Given the description of an element on the screen output the (x, y) to click on. 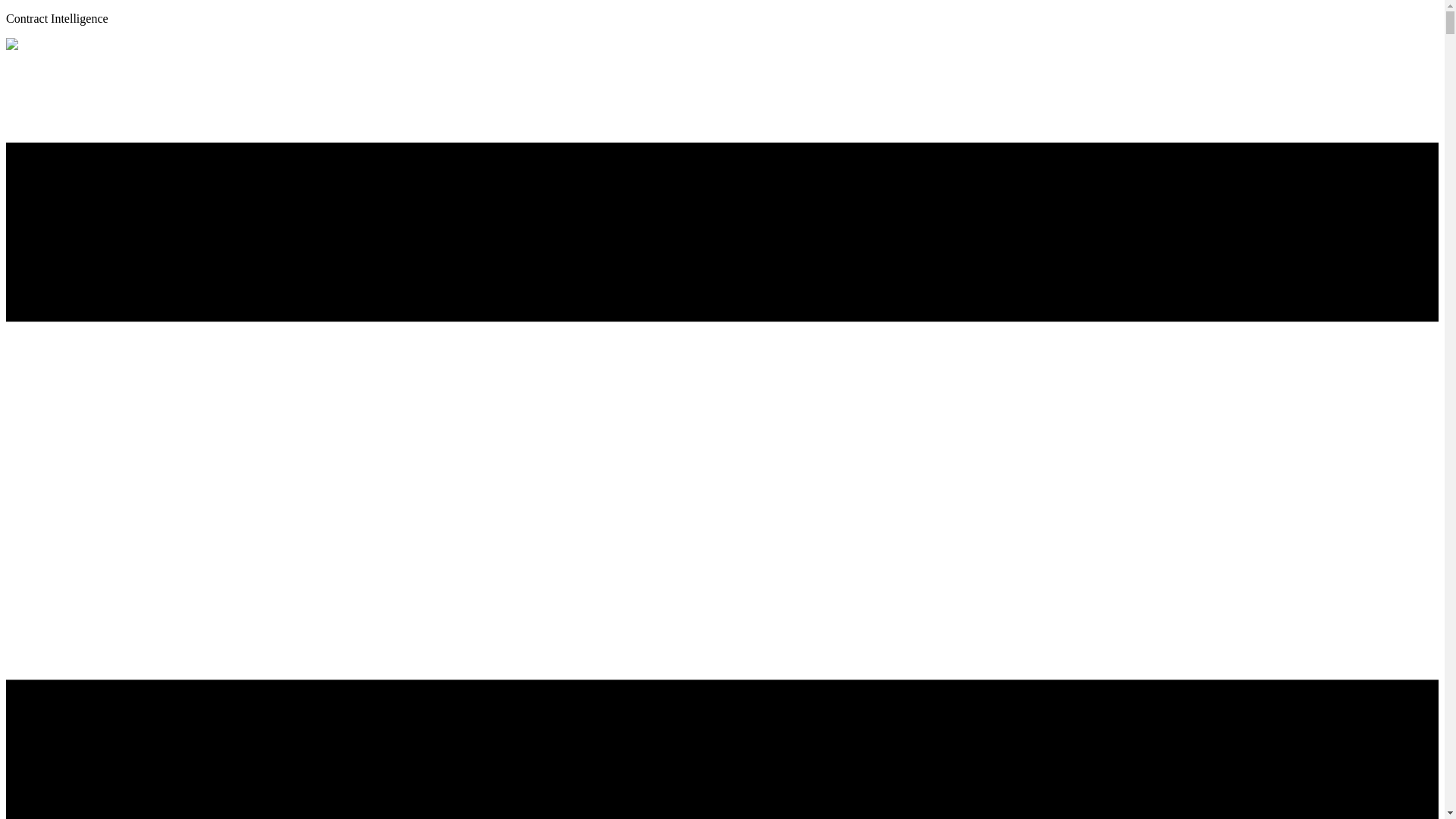
Home (11, 45)
